Given the description of an element on the screen output the (x, y) to click on. 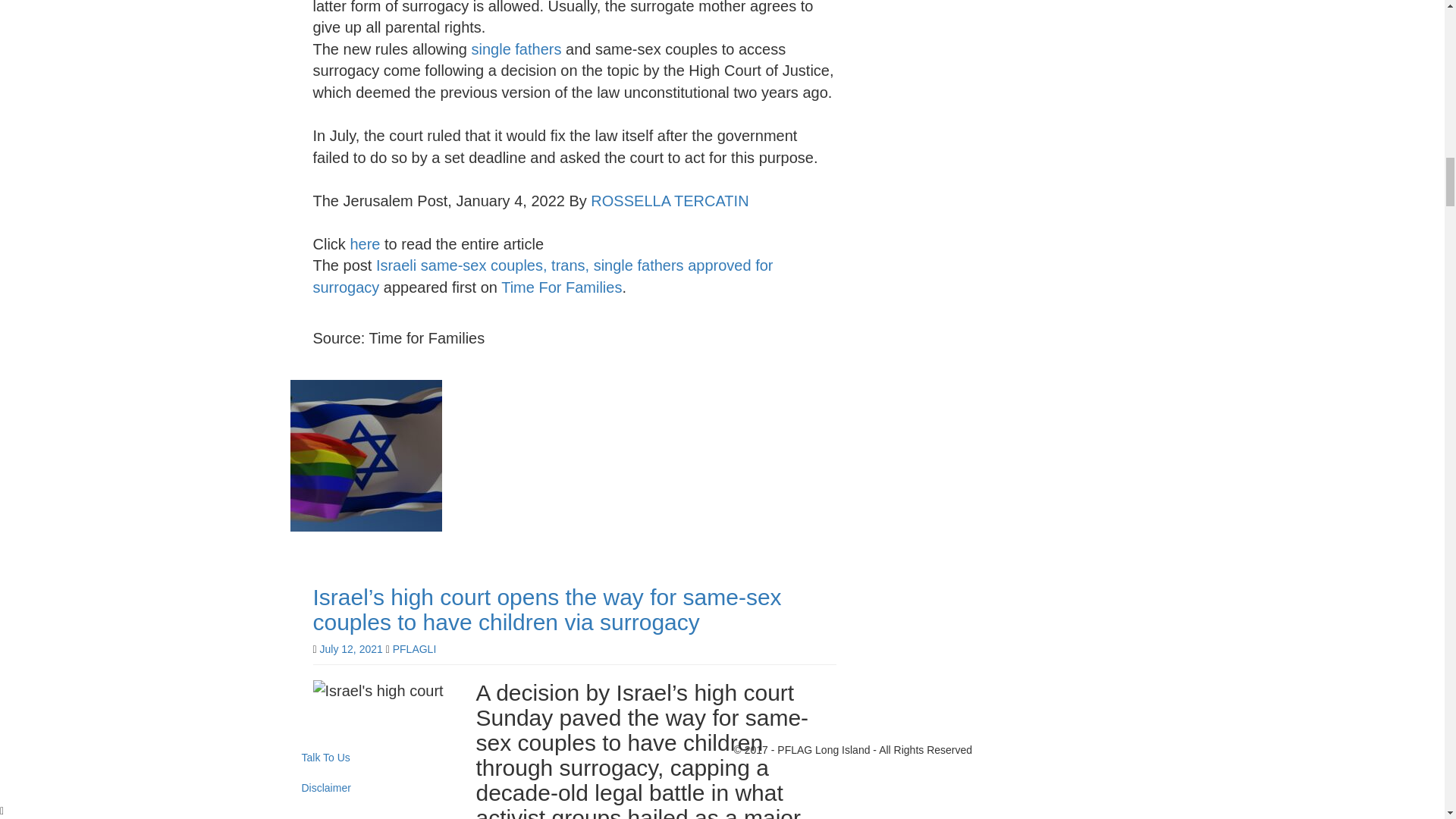
single fathers (516, 48)
Time For Families (560, 287)
here (363, 243)
ROSSELLA TERCATIN (669, 200)
